Given the description of an element on the screen output the (x, y) to click on. 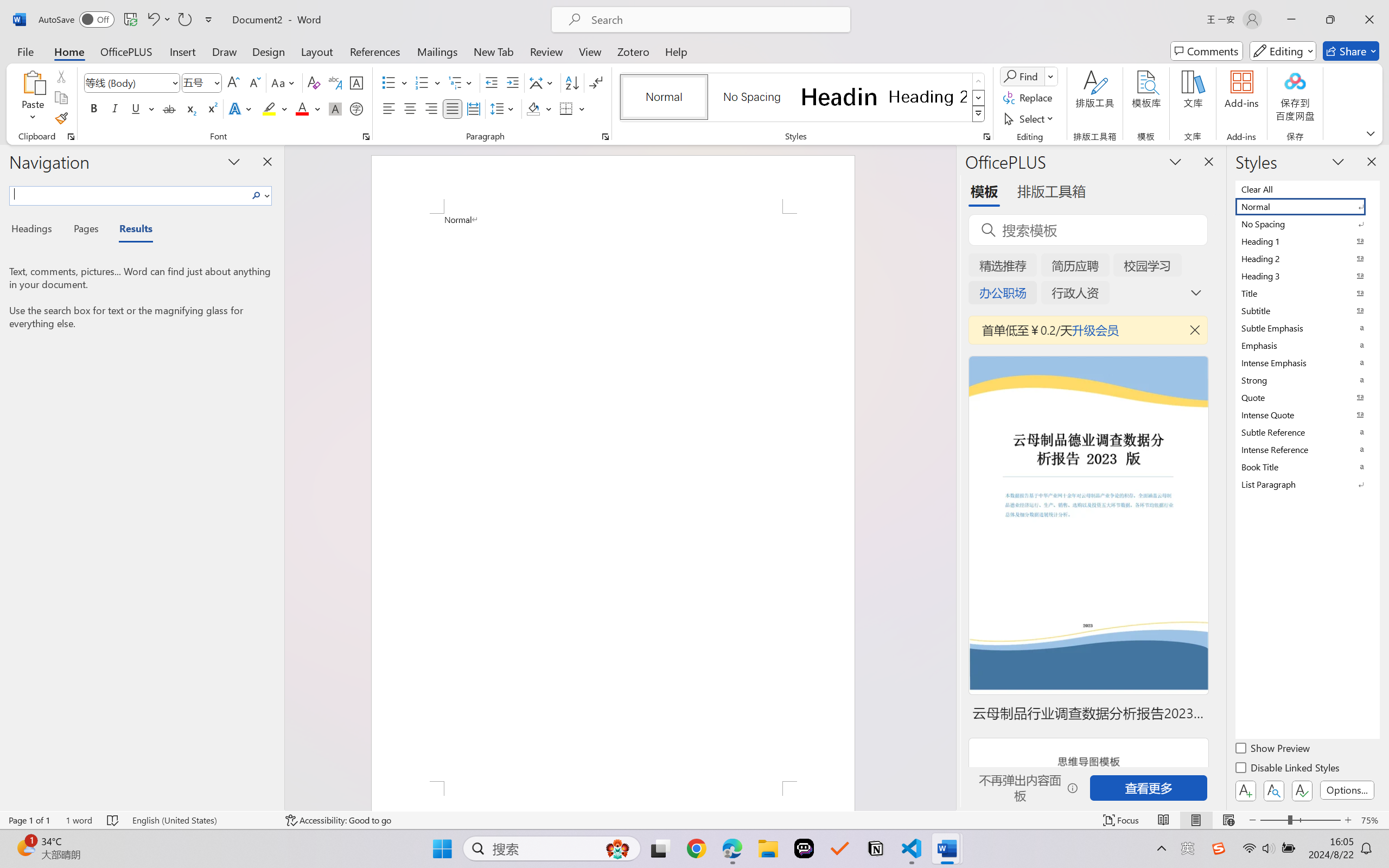
Restore Down (1330, 19)
Share (1350, 51)
Bullets (395, 82)
Line and Paragraph Spacing (503, 108)
Layout (316, 51)
Insert (182, 51)
Font... (365, 136)
AutoSave (76, 19)
Intense Emphasis (1306, 362)
Zoom (1300, 819)
